Given the description of an element on the screen output the (x, y) to click on. 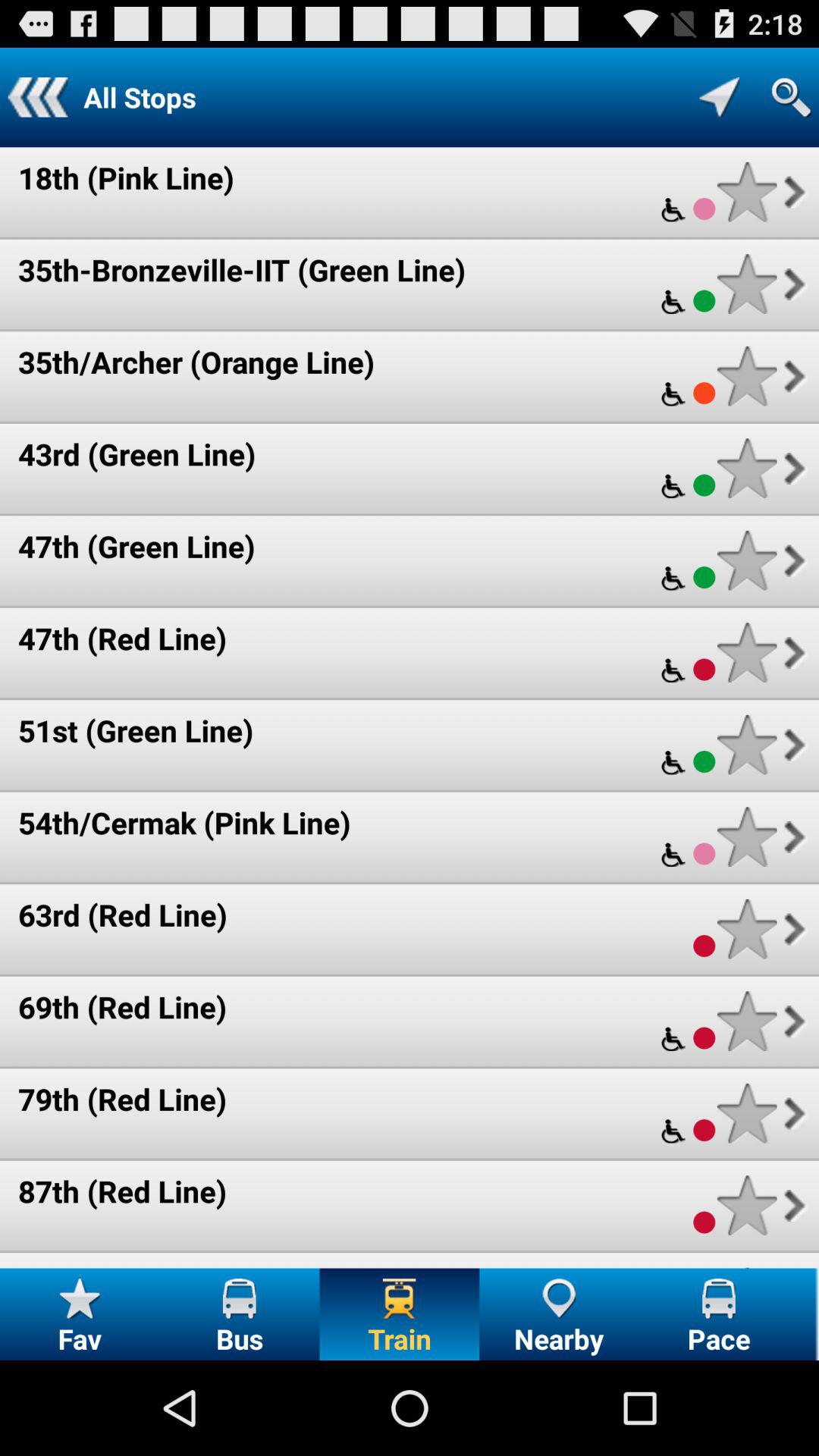
location (719, 97)
